Given the description of an element on the screen output the (x, y) to click on. 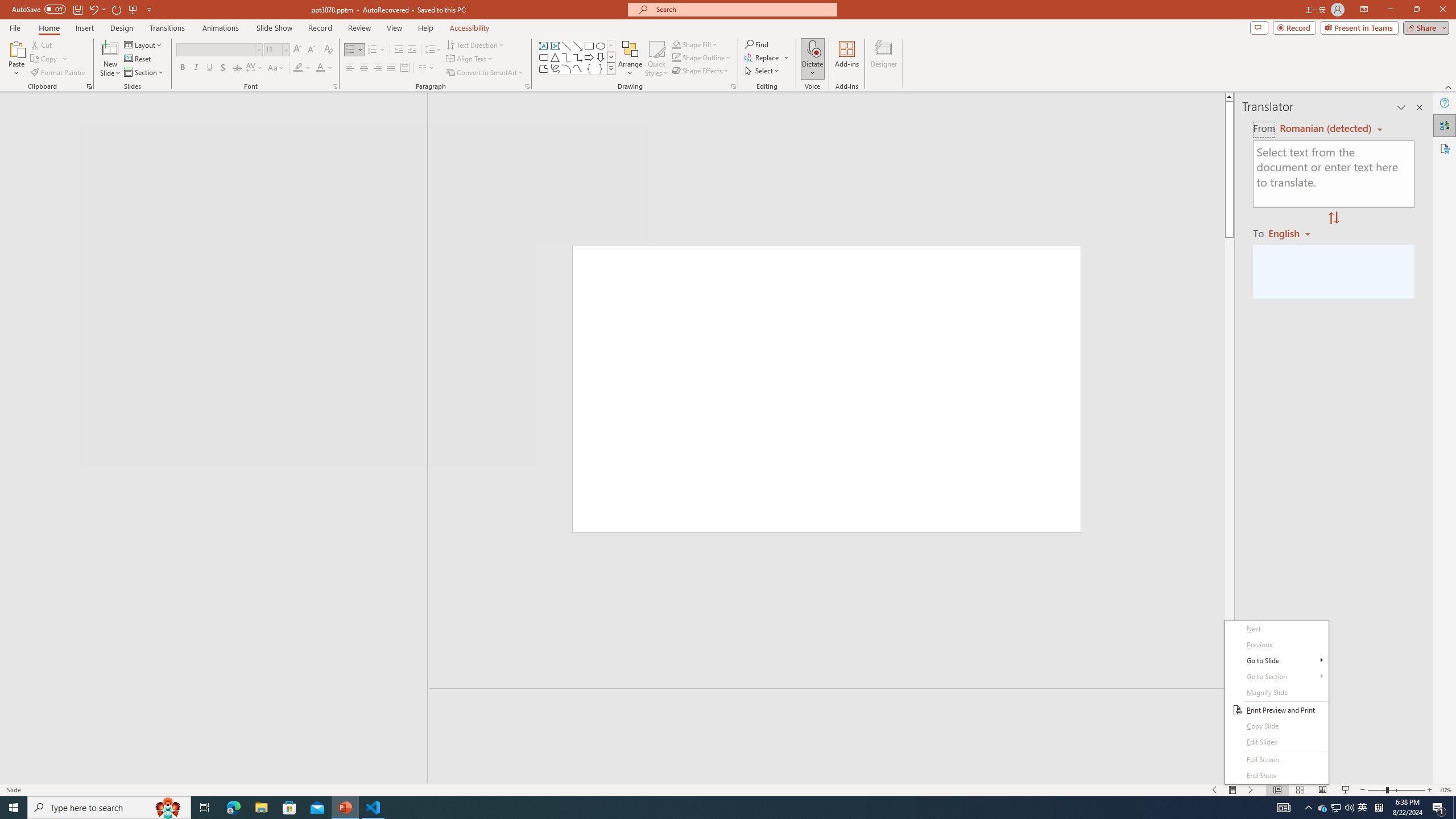
Microsoft Edge (233, 807)
Decrease Font Size (310, 49)
Find... (756, 44)
Center (363, 67)
Vertical Text Box (554, 45)
Align Text (470, 58)
Align Right (377, 67)
